Given the description of an element on the screen output the (x, y) to click on. 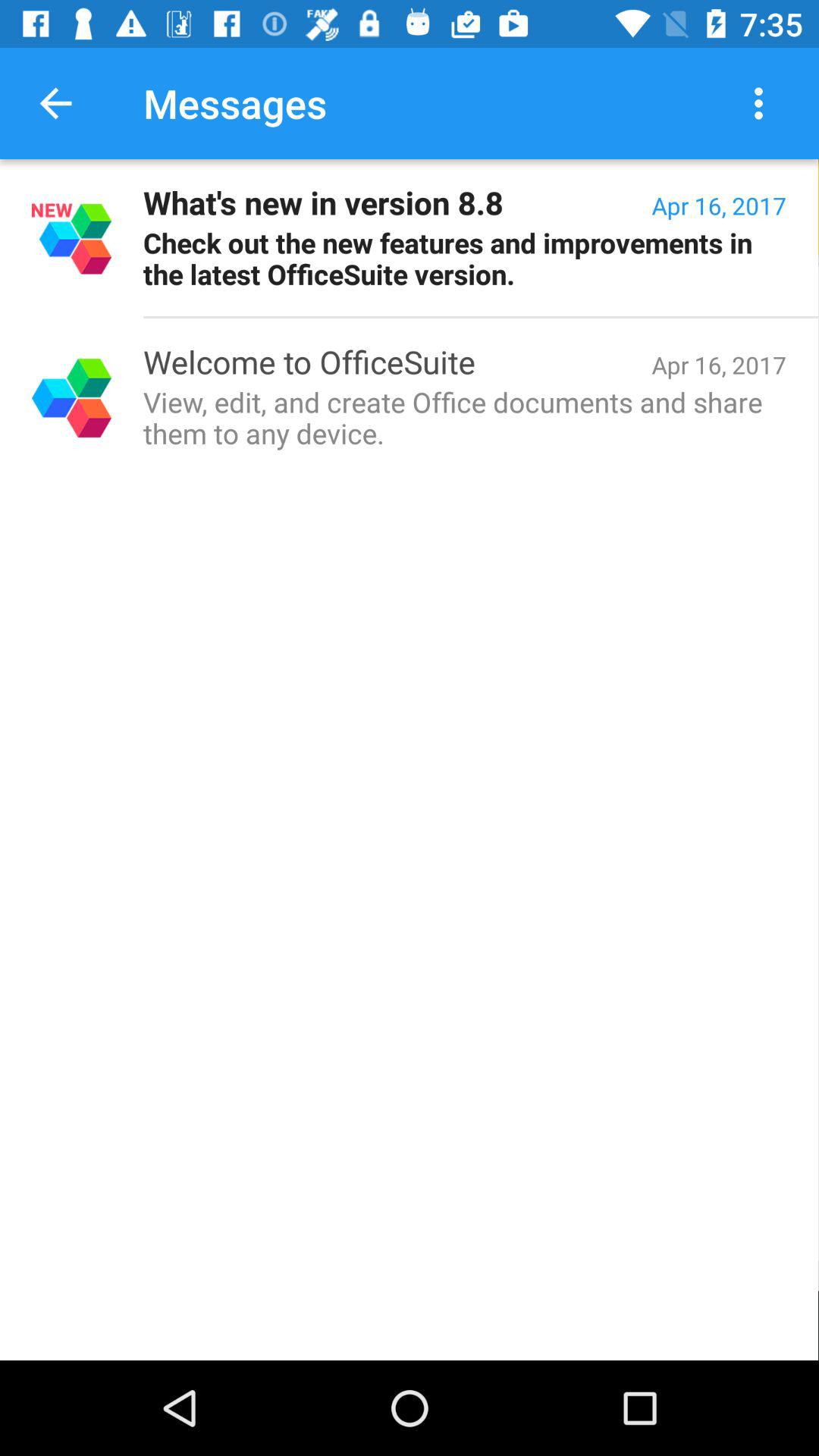
open the item above apr 16, 2017 (762, 103)
